Given the description of an element on the screen output the (x, y) to click on. 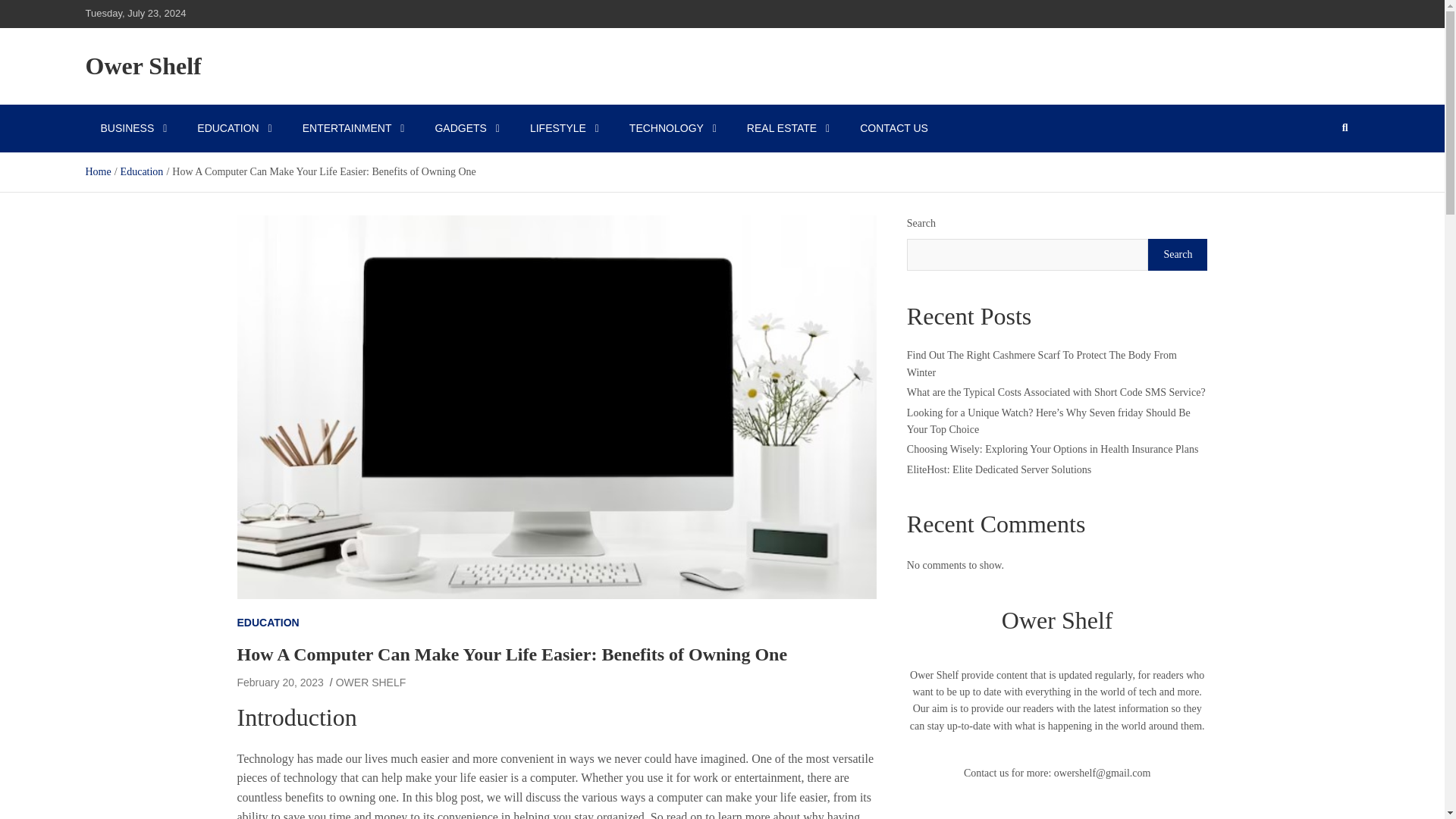
Ower Shelf (142, 65)
Home (97, 171)
EDUCATION (266, 622)
GADGETS (466, 127)
REAL ESTATE (788, 127)
TECHNOLOGY (673, 127)
ENTERTAINMENT (353, 127)
CONTACT US (893, 127)
BUSINESS (133, 127)
EDUCATION (234, 127)
LIFESTYLE (564, 127)
OWER SHELF (371, 682)
Education (141, 171)
February 20, 2023 (279, 682)
